Given the description of an element on the screen output the (x, y) to click on. 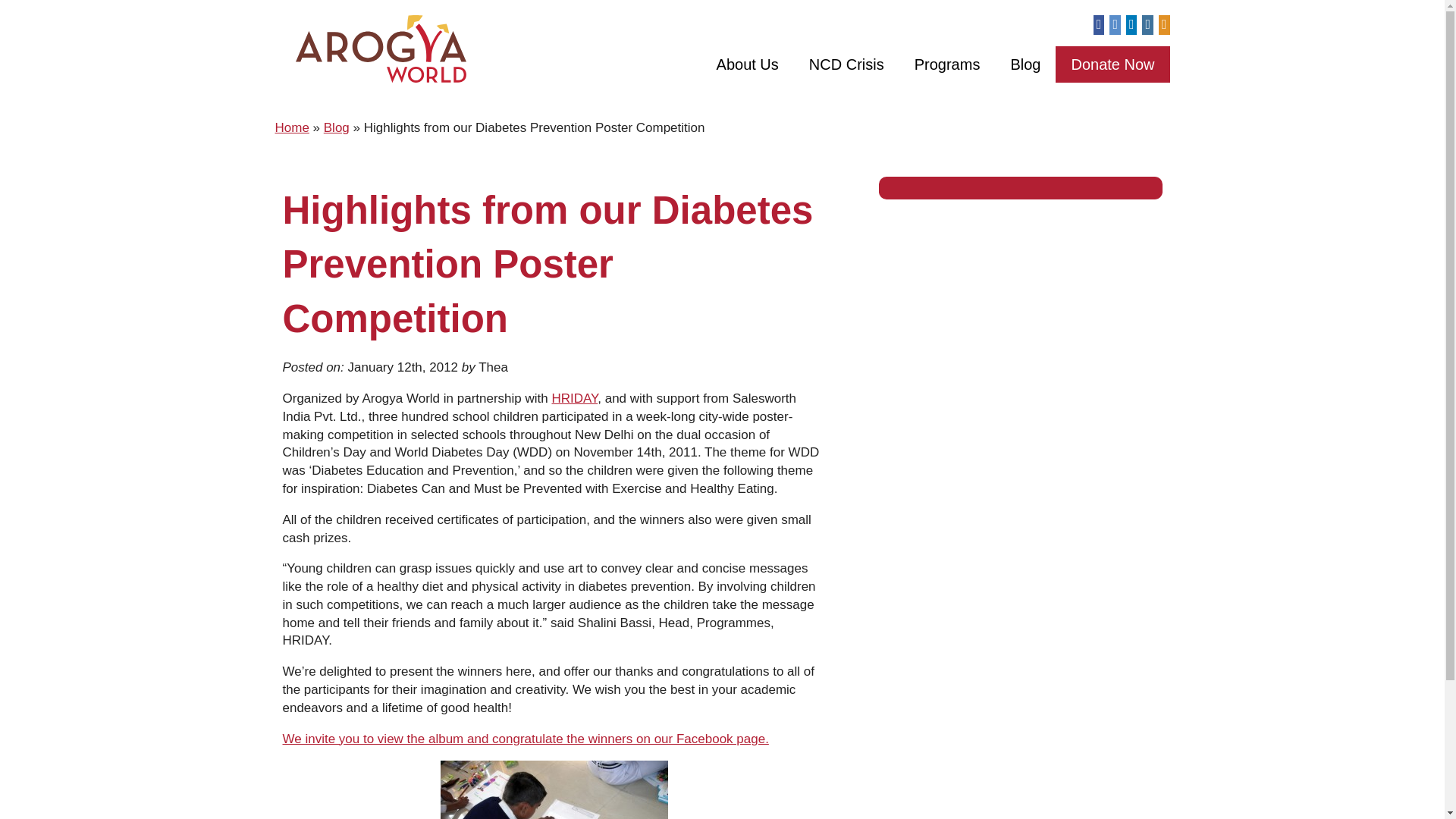
NCD Crisis (846, 63)
About Us (747, 63)
Poster Contest Winners (554, 789)
2011 Poster Contest (525, 739)
Programs (947, 63)
